Given the description of an element on the screen output the (x, y) to click on. 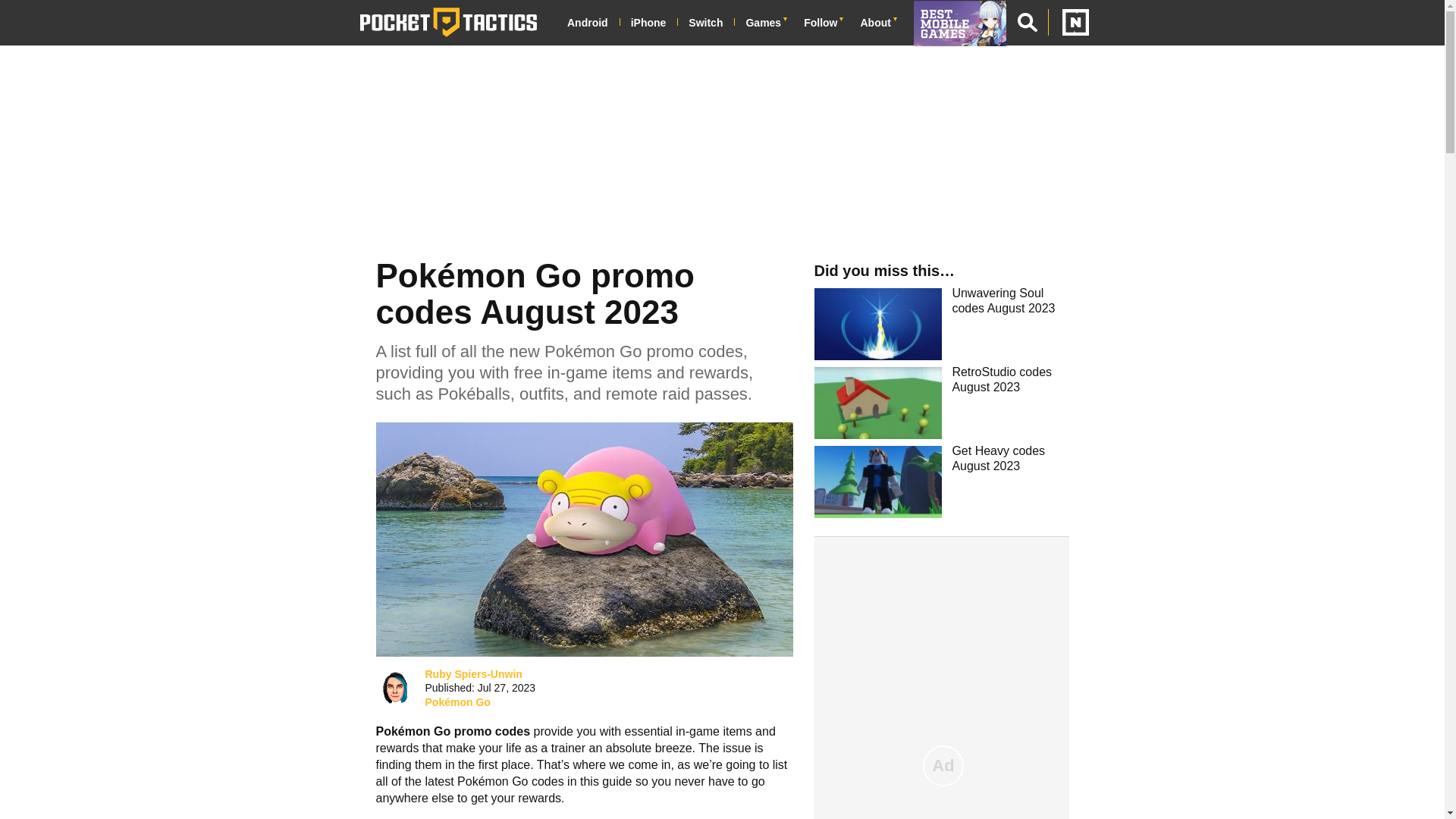
Games (768, 22)
Ruby Spiers-Unwin (473, 673)
Network N Media (1068, 22)
RetroStudio codes August 2023 (940, 401)
Android (593, 22)
Pocket Tactics (448, 22)
Get Heavy codes August 2023 (940, 480)
Best Mobile Games (965, 22)
Ruby Spiers-Unwin (394, 687)
Switch (710, 22)
